Given the description of an element on the screen output the (x, y) to click on. 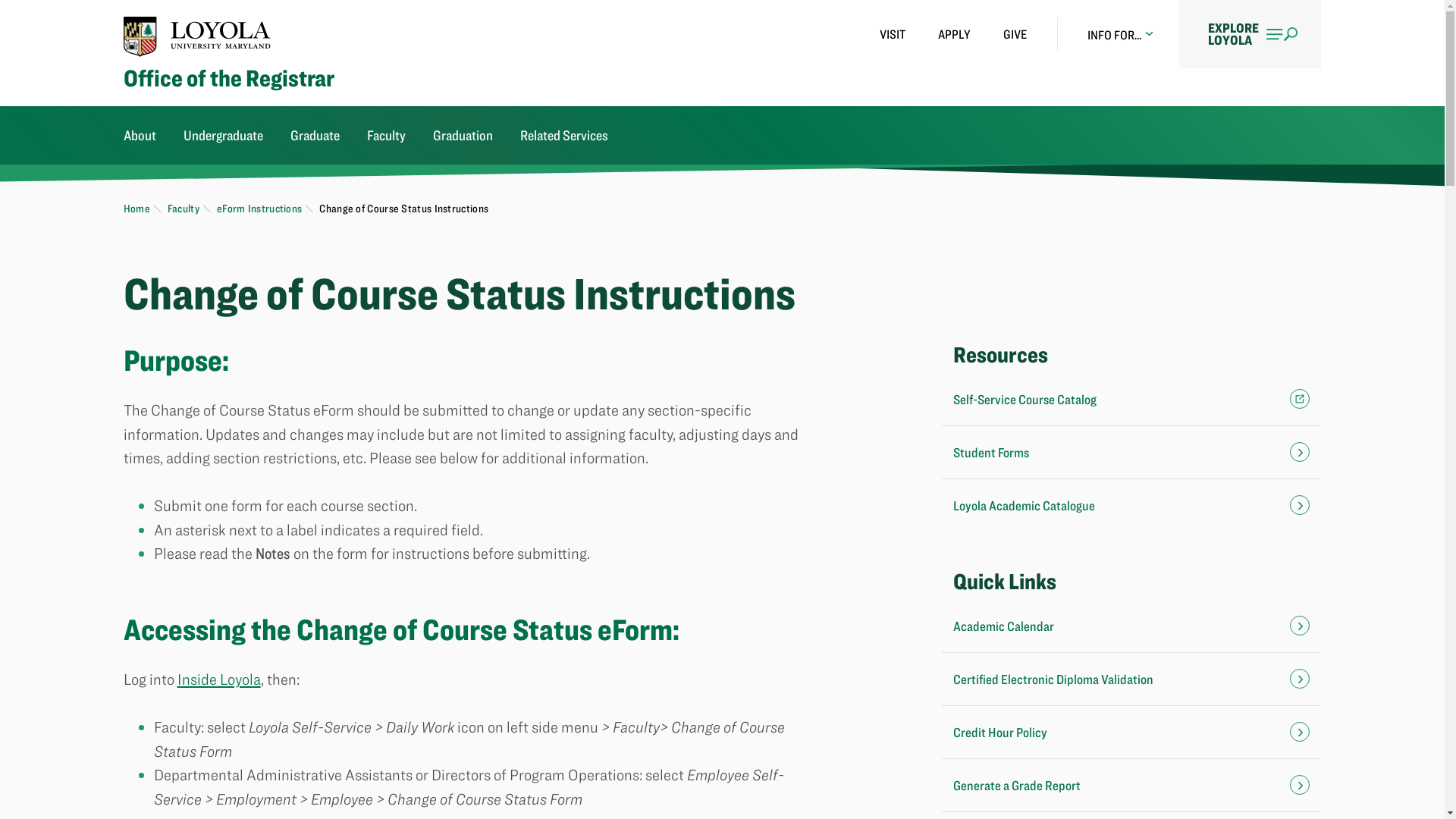
VISIT (892, 34)
EXPLORE LOYOLA (1249, 33)
Logo (196, 35)
GIVE (1015, 34)
APPLY (954, 34)
